Given the description of an element on the screen output the (x, y) to click on. 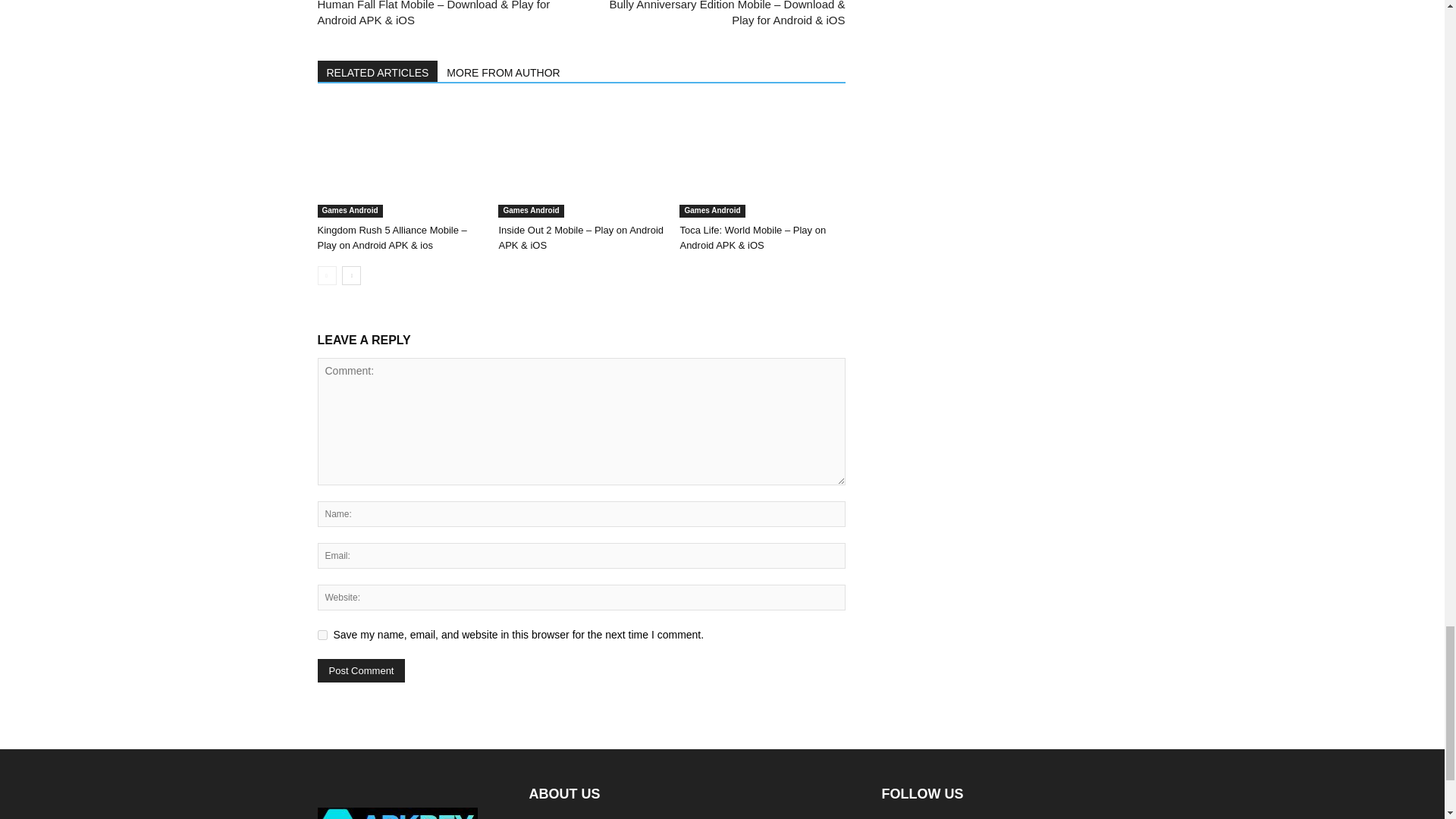
Post Comment (360, 670)
yes (321, 634)
